Given the description of an element on the screen output the (x, y) to click on. 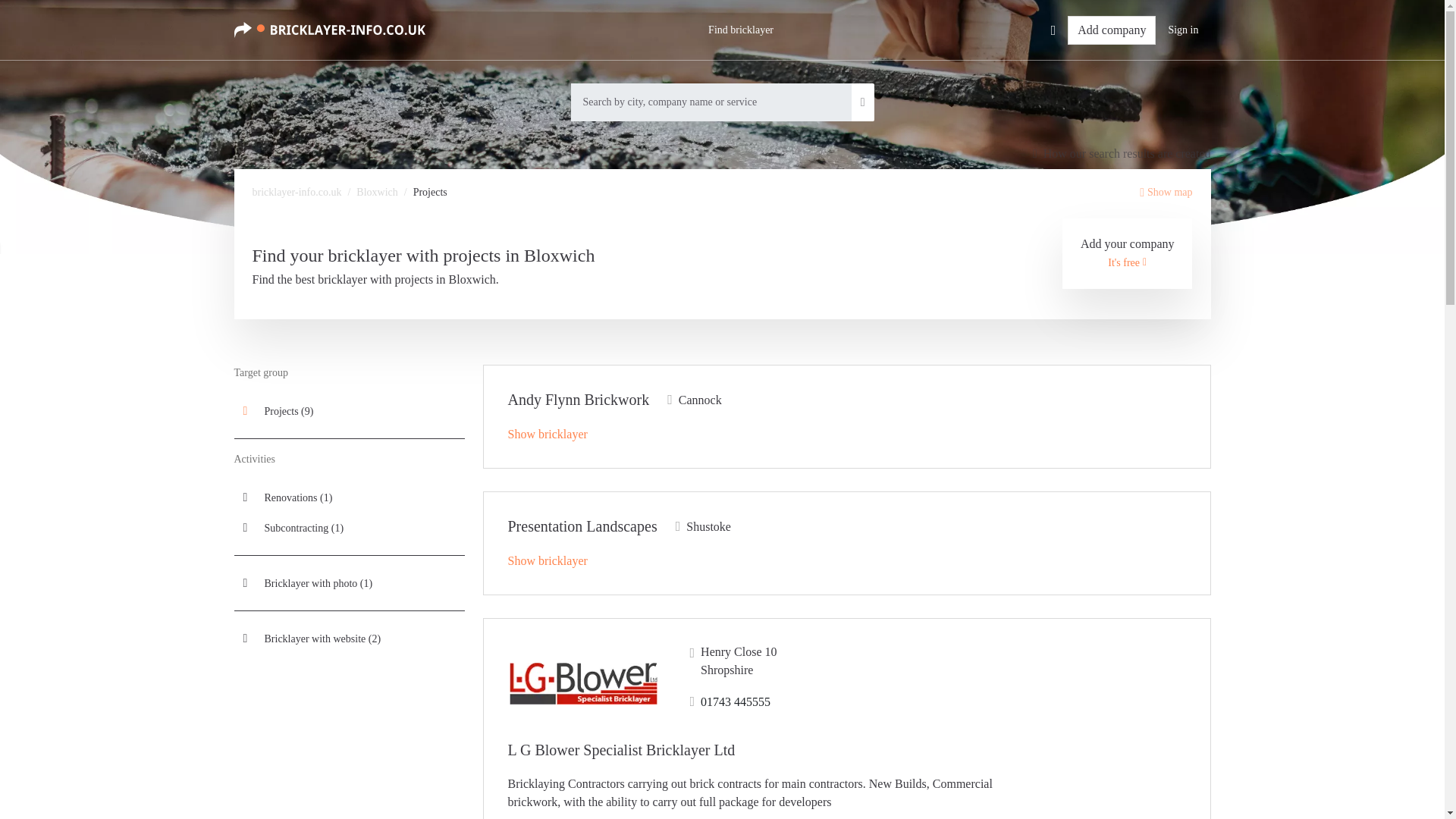
Add company (1111, 29)
Find bricklayer (740, 29)
